Given the description of an element on the screen output the (x, y) to click on. 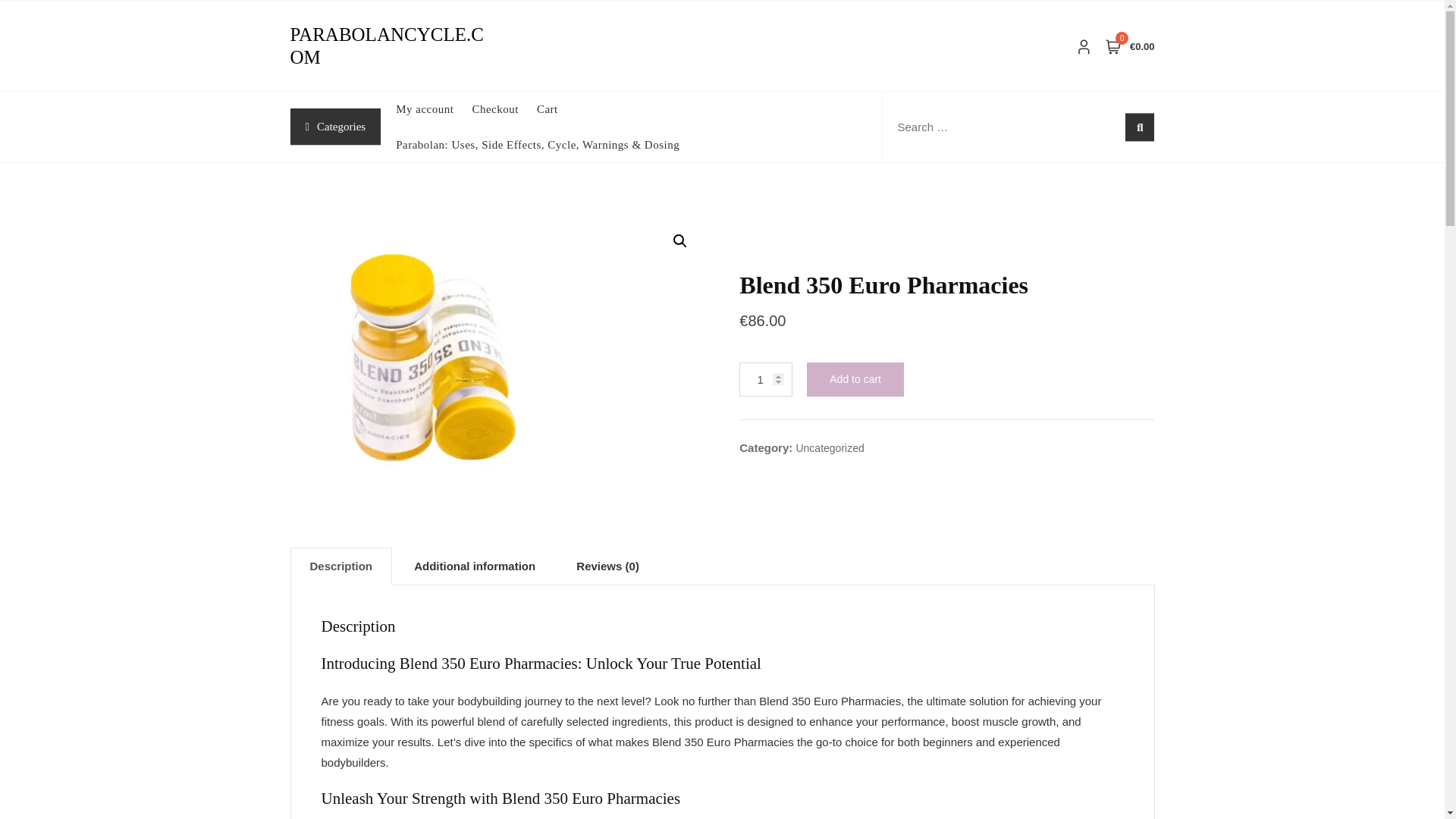
Cart (556, 109)
Uncategorized (828, 447)
Categories (334, 126)
Search (136, 6)
PARABOLANCYCLE.COM (386, 45)
Additional information (474, 565)
Description (341, 565)
Checkout (504, 109)
Add to cart (855, 379)
Qty (765, 379)
1 (765, 379)
My account (433, 109)
